Given the description of an element on the screen output the (x, y) to click on. 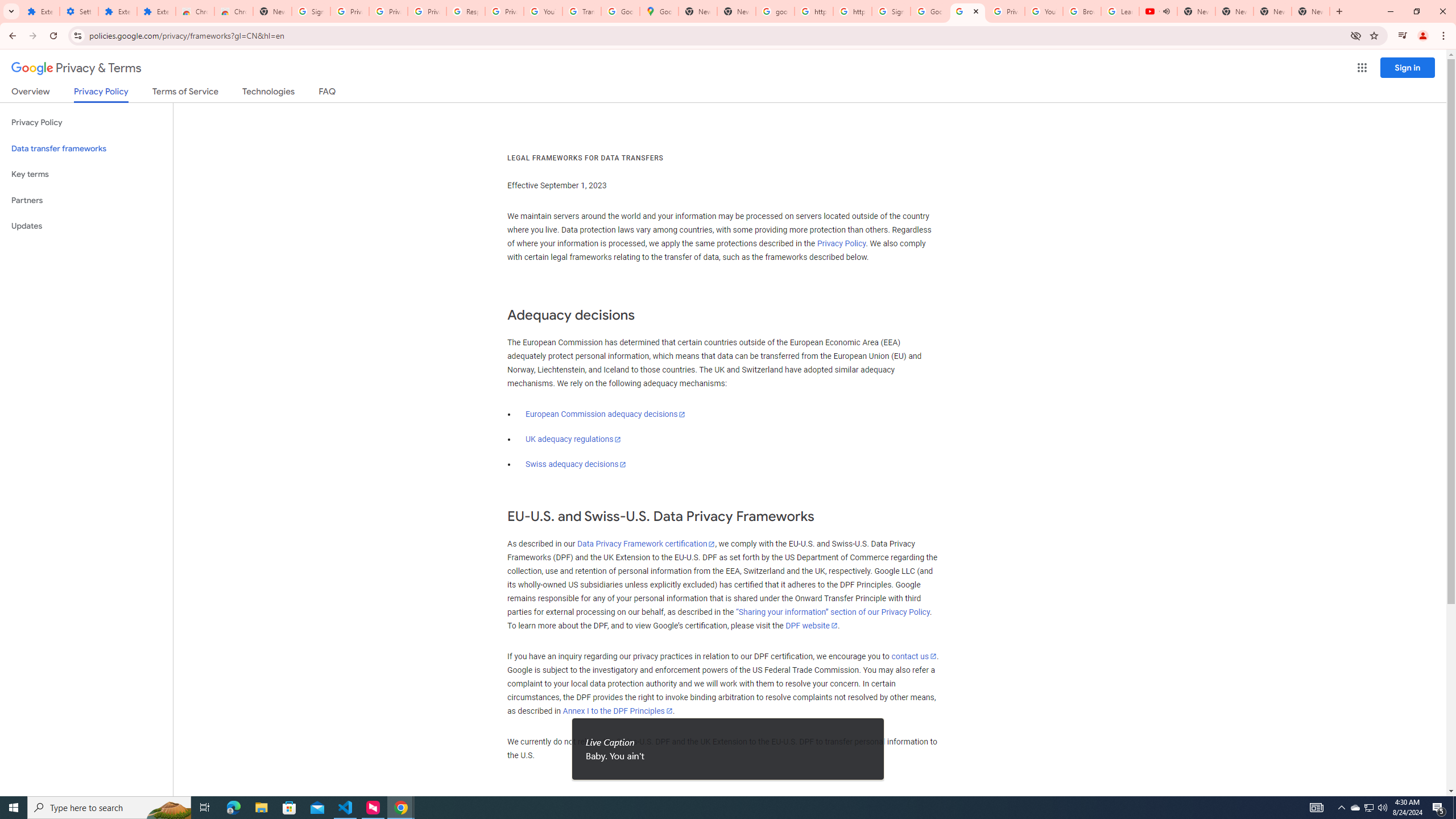
Extensions (40, 11)
New Tab (1311, 11)
DPF website (810, 625)
Data Privacy Framework certification (645, 543)
contact us (913, 656)
